Given the description of an element on the screen output the (x, y) to click on. 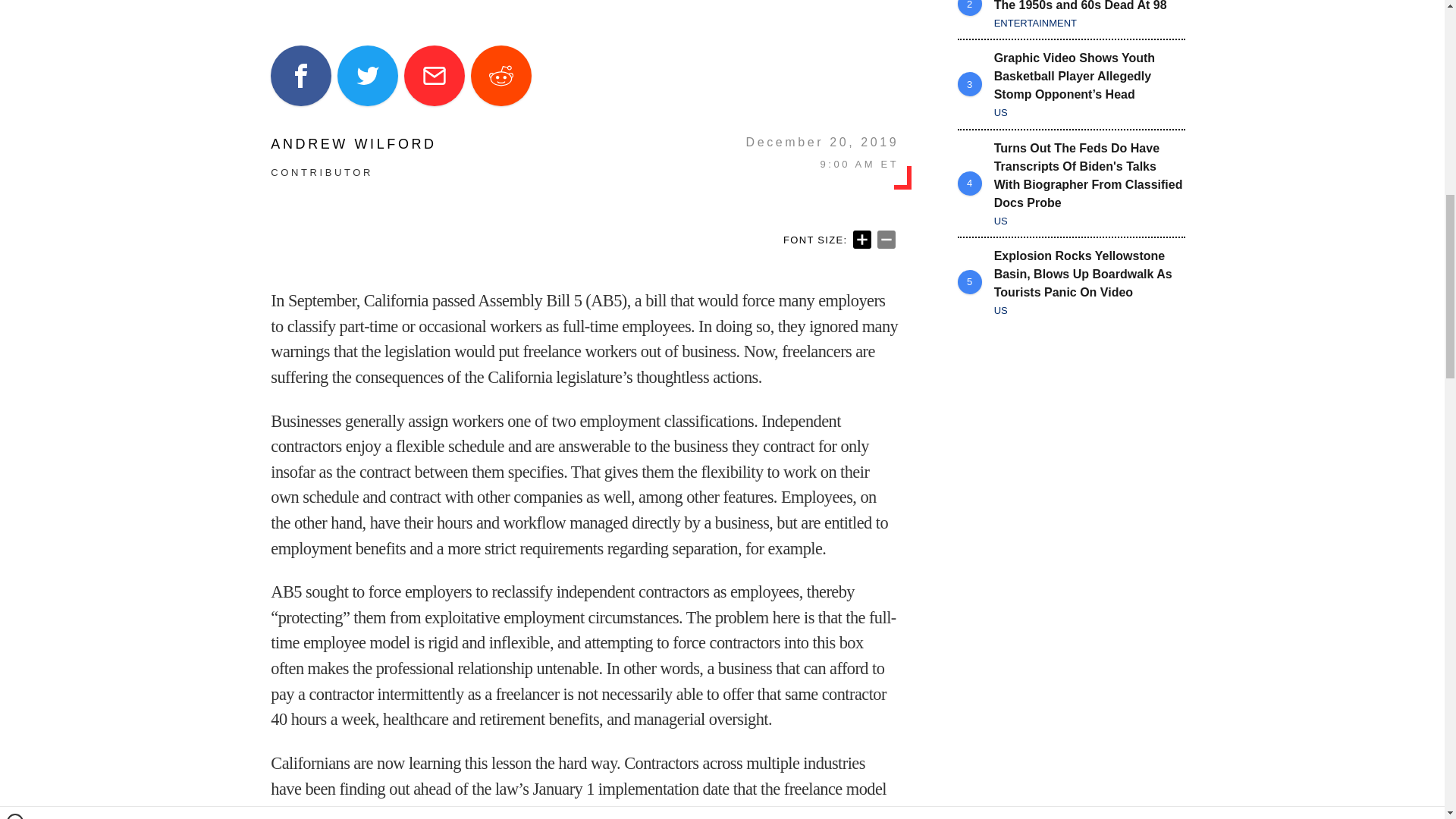
ANDREW WILFORD (352, 144)
Close window (14, 6)
View More Articles By Andrew Wilford (352, 144)
